Given the description of an element on the screen output the (x, y) to click on. 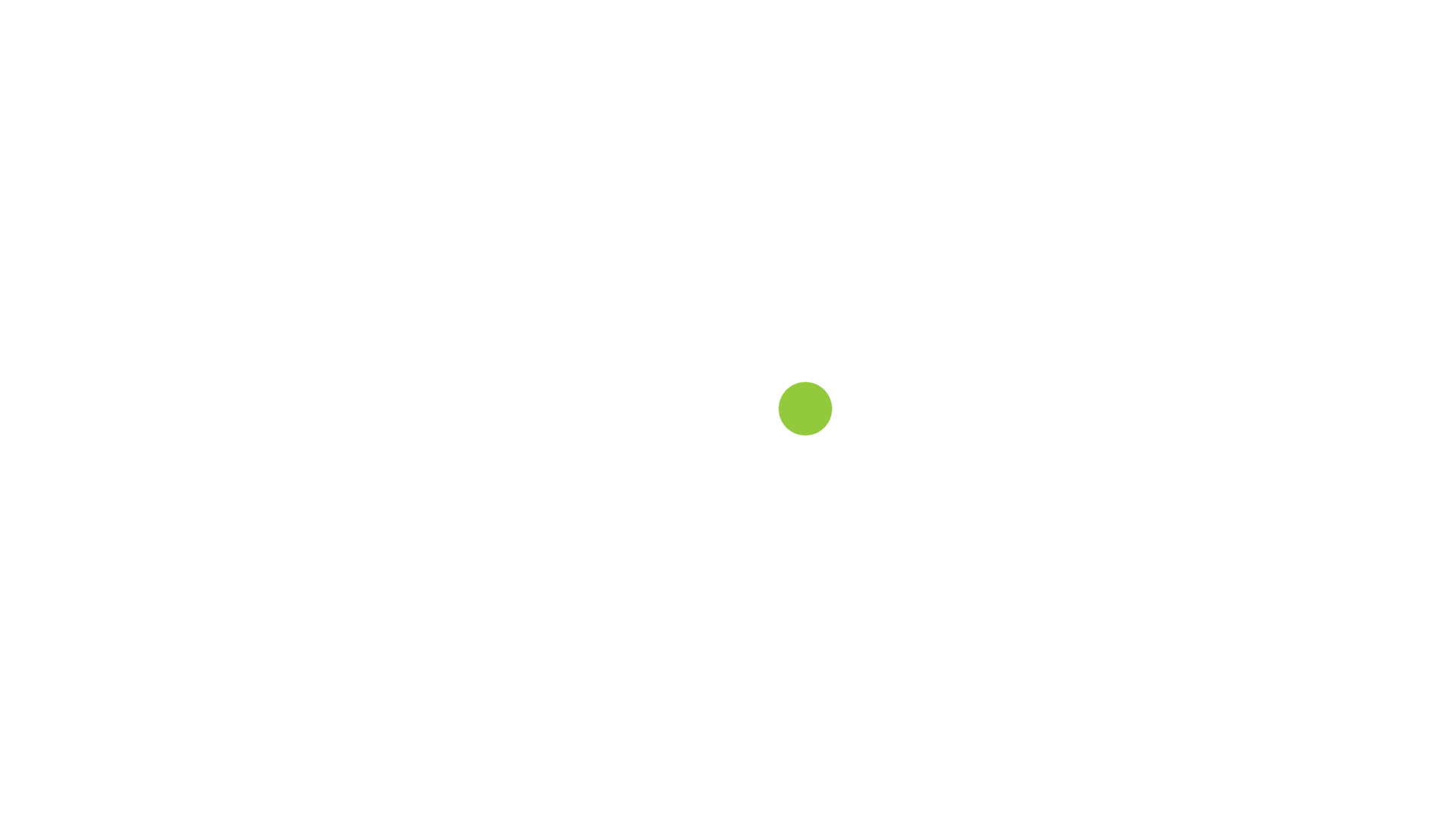
+375 (29) 751 17 77 Element type: text (914, 40)
+375 (29) 161-16-66 Element type: text (914, 23)
0 Element type: text (1220, 40)
ENGLISH Element type: text (964, 99)
+375 (29) 668 39 65 Element type: text (1068, 21)
